Given the description of an element on the screen output the (x, y) to click on. 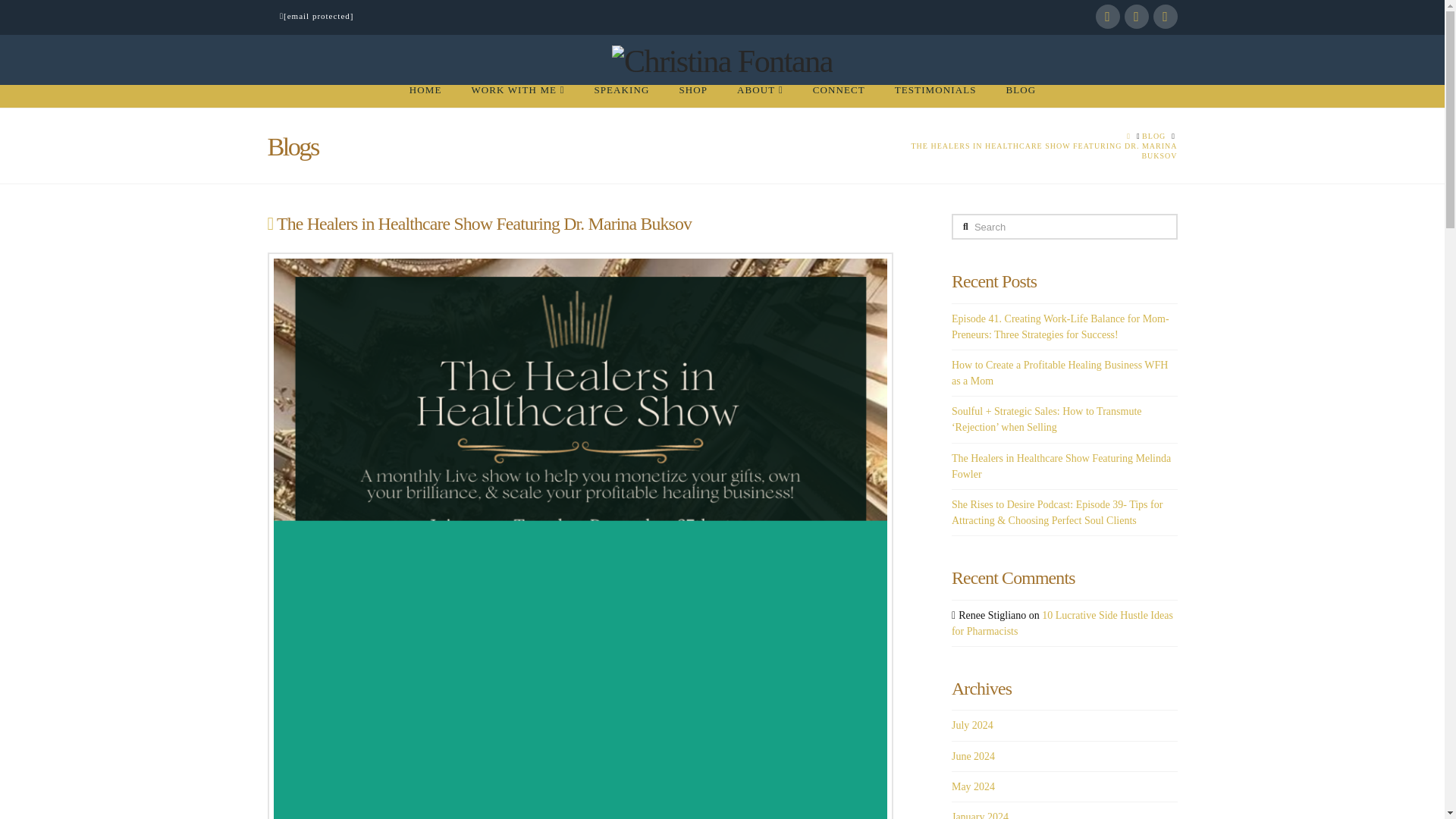
SPEAKING (620, 96)
SHOP (692, 96)
HOME (425, 96)
BLOG (1153, 135)
WORK WITH ME (516, 96)
ABOUT (759, 96)
YouTube (1136, 16)
TESTIMONIALS (935, 96)
You Are Here (1040, 150)
BLOG (1019, 96)
